Given the description of an element on the screen output the (x, y) to click on. 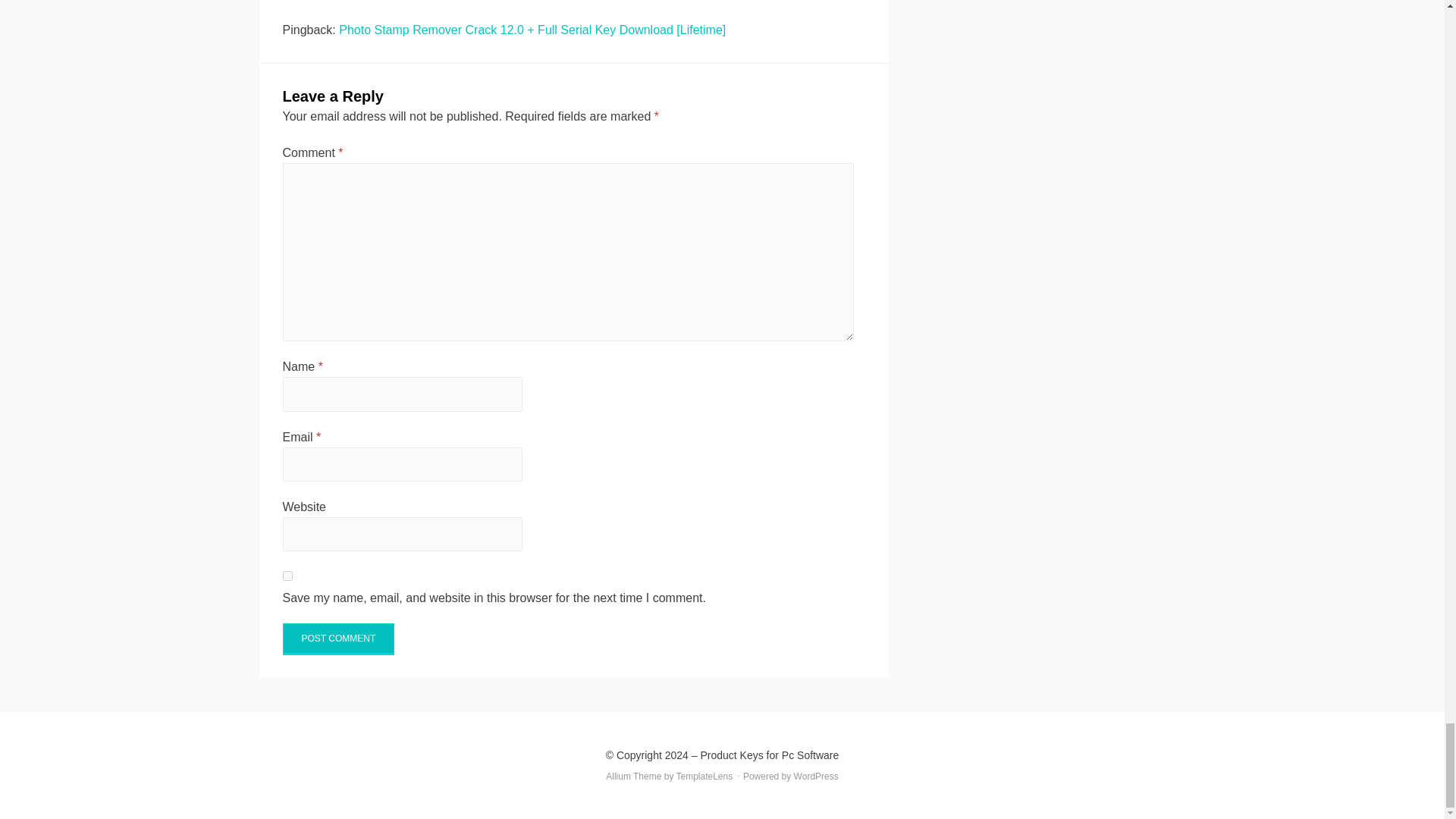
Post Comment (338, 639)
yes (287, 575)
